Given the description of an element on the screen output the (x, y) to click on. 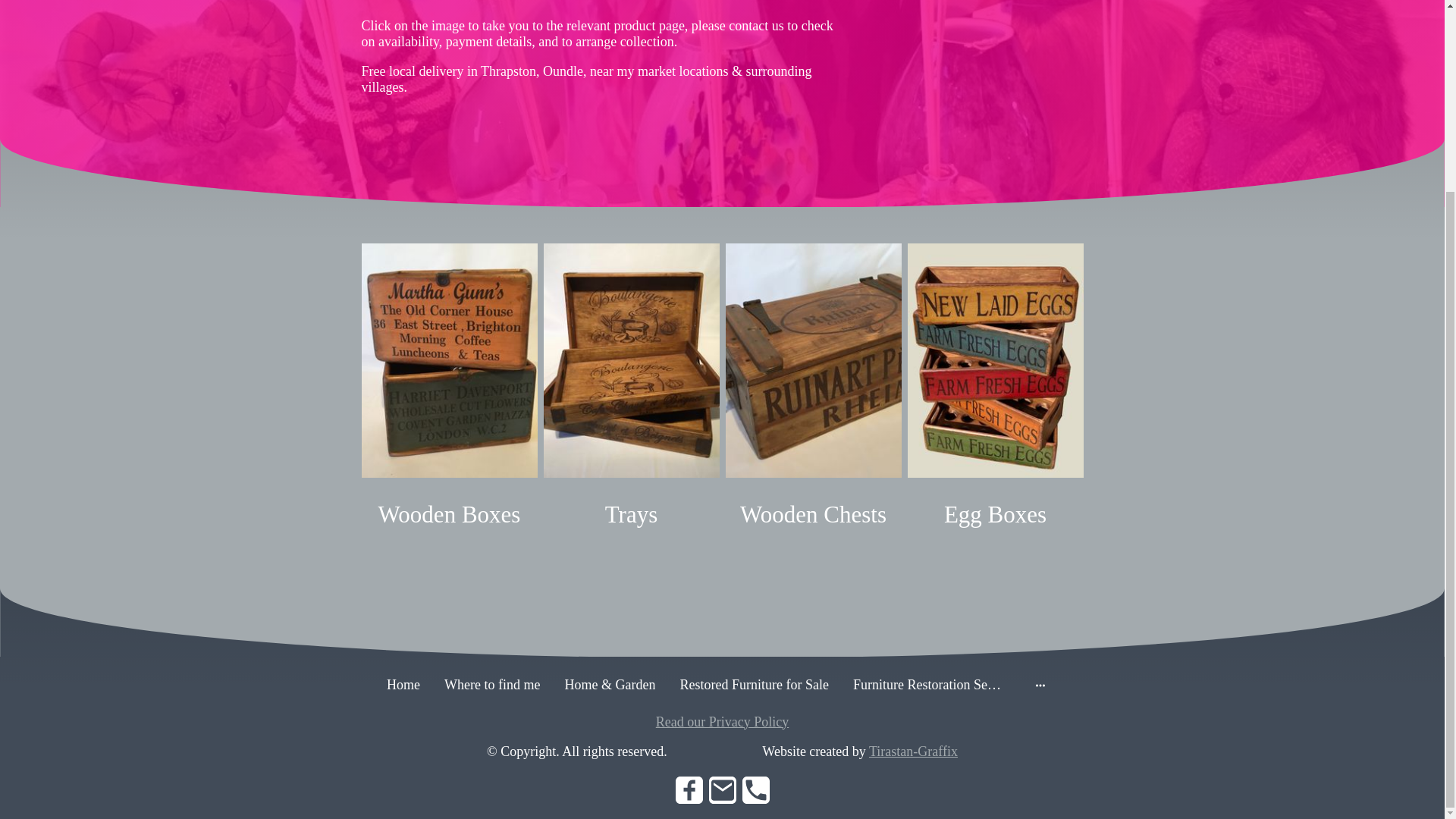
Furniture Restoration Service (928, 684)
Where to find me (491, 684)
Tirastan-Graffix (913, 751)
Read our Privacy Policy (722, 721)
Home (403, 684)
Restored Furniture for Sale (753, 684)
